Given the description of an element on the screen output the (x, y) to click on. 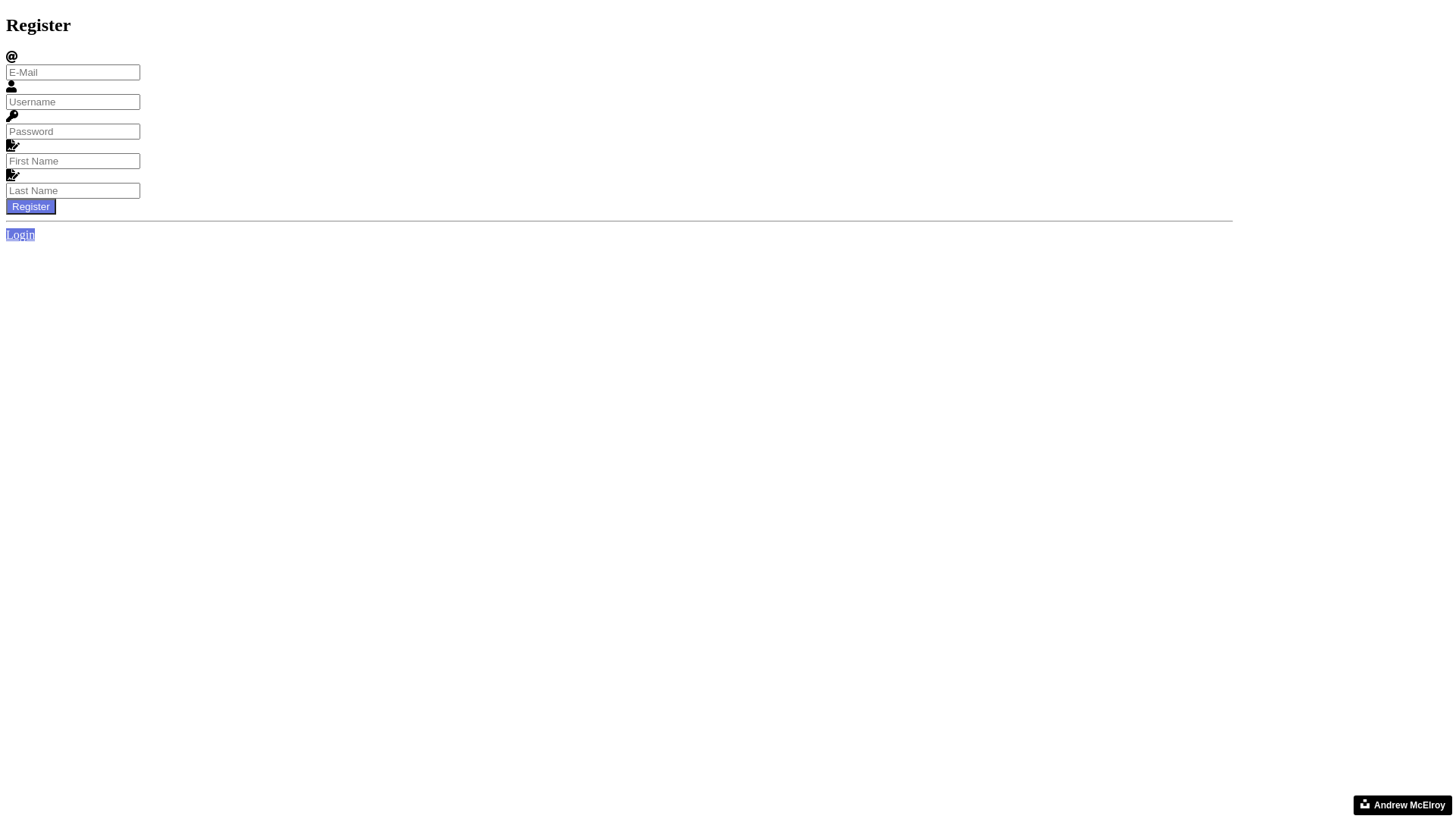
Register Element type: text (31, 206)
Login Element type: text (20, 234)
unsplash-logoAndrew McElroy Element type: text (1402, 805)
